Given the description of an element on the screen output the (x, y) to click on. 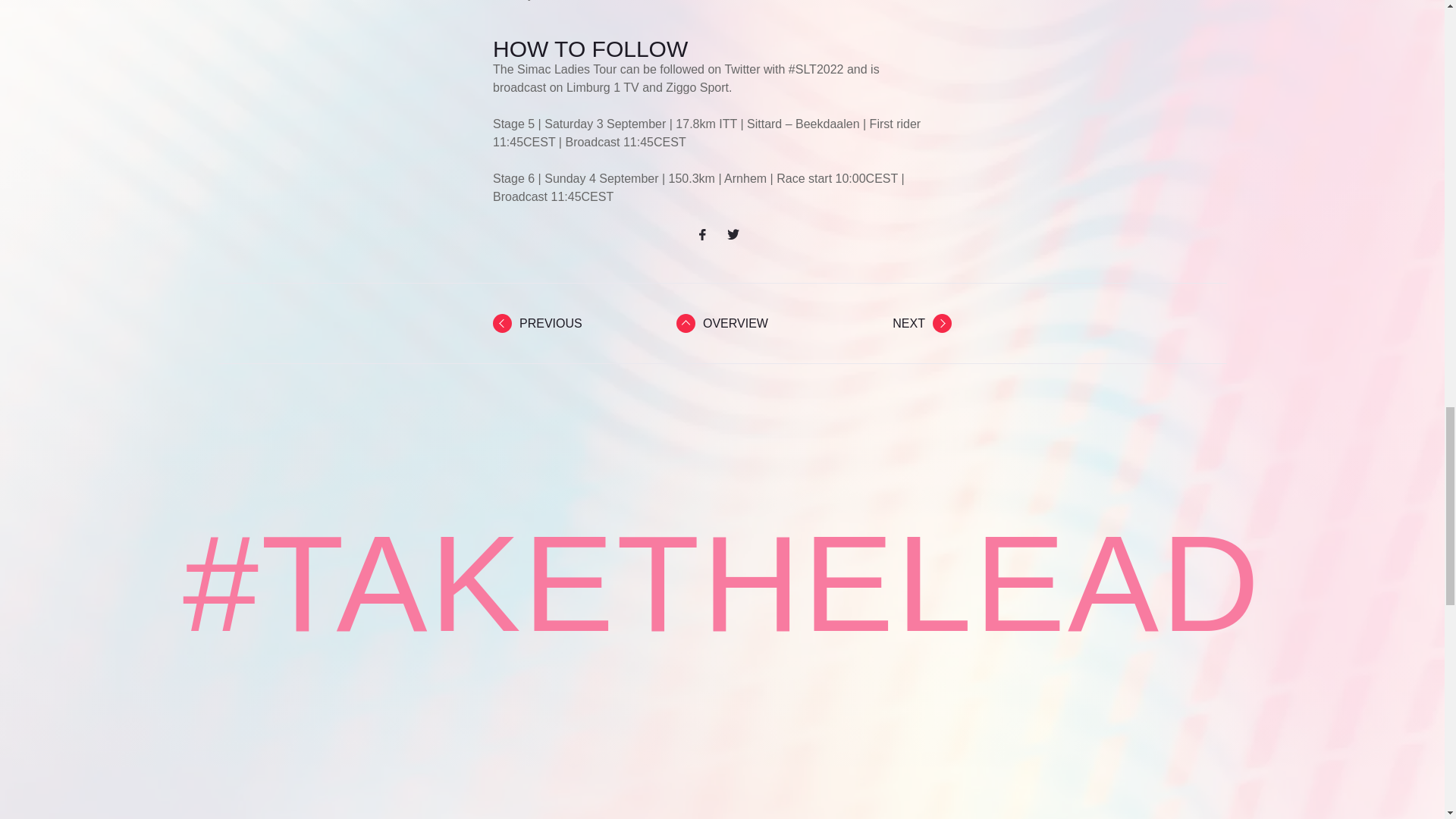
facebook (708, 234)
OVERVIEW (722, 322)
PREVIOUS (537, 322)
NEXT (922, 322)
twitter (735, 234)
